Given the description of an element on the screen output the (x, y) to click on. 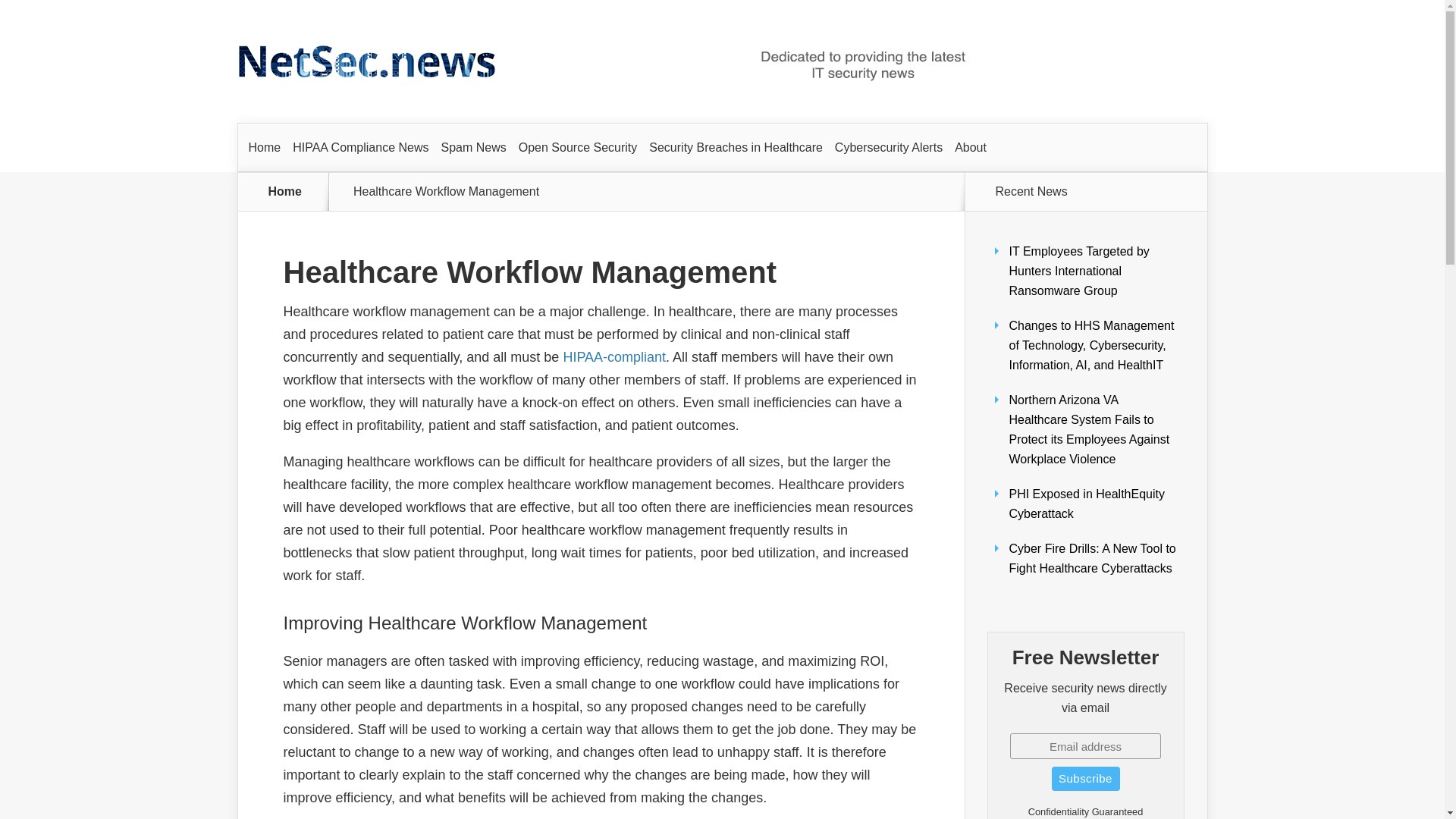
Open Source Security (577, 147)
Subscribe (1085, 778)
Home (285, 191)
Subscribe (1085, 778)
PHI Exposed in HealthEquity Cyberattack (1086, 503)
HIPAA Compliance News (359, 147)
About (970, 147)
